Given the description of an element on the screen output the (x, y) to click on. 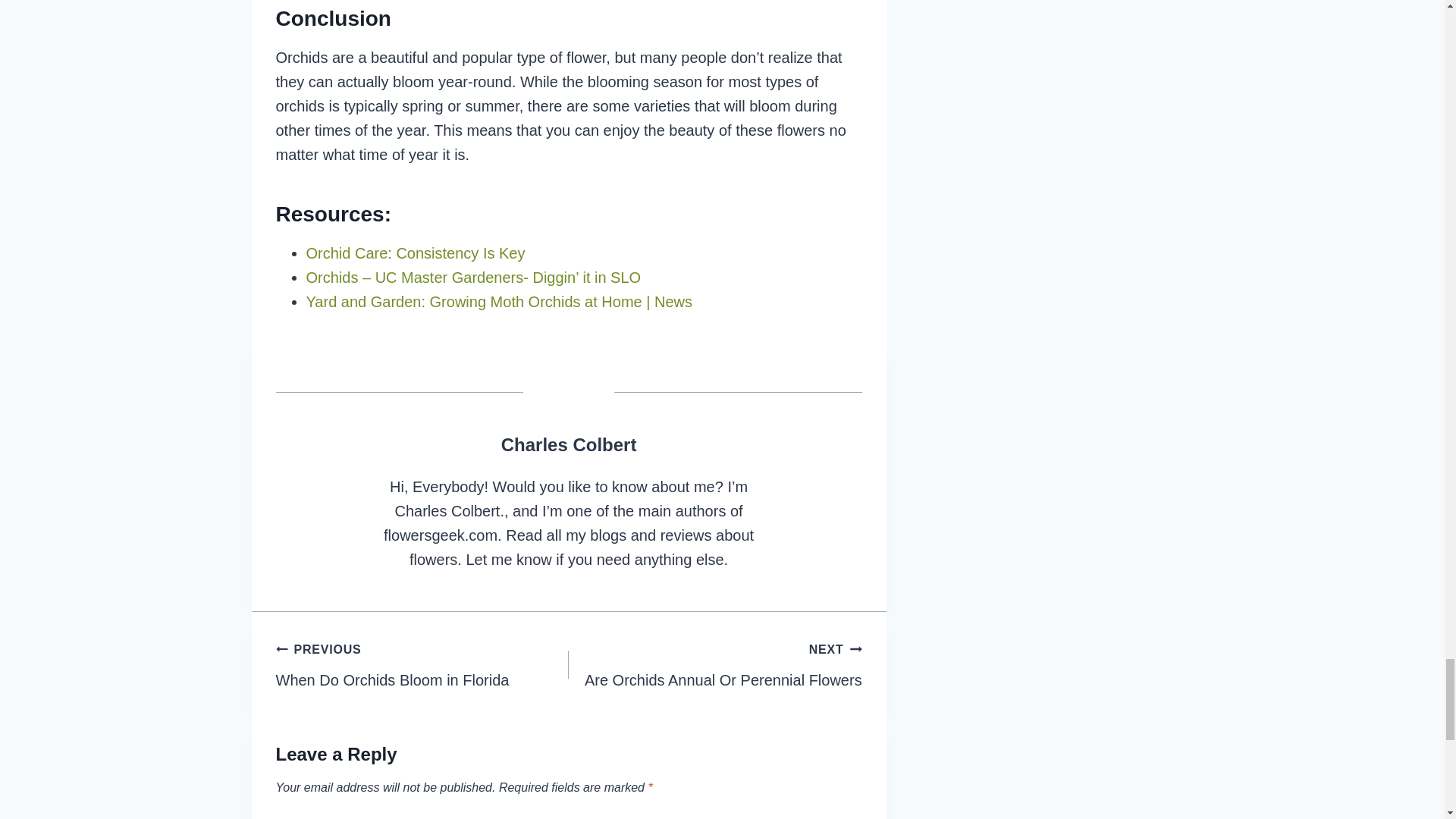
Orchid Care: Consistency Is Key (415, 252)
Charles Colbert (568, 444)
Posts by Charles Colbert (568, 444)
